Given the description of an element on the screen output the (x, y) to click on. 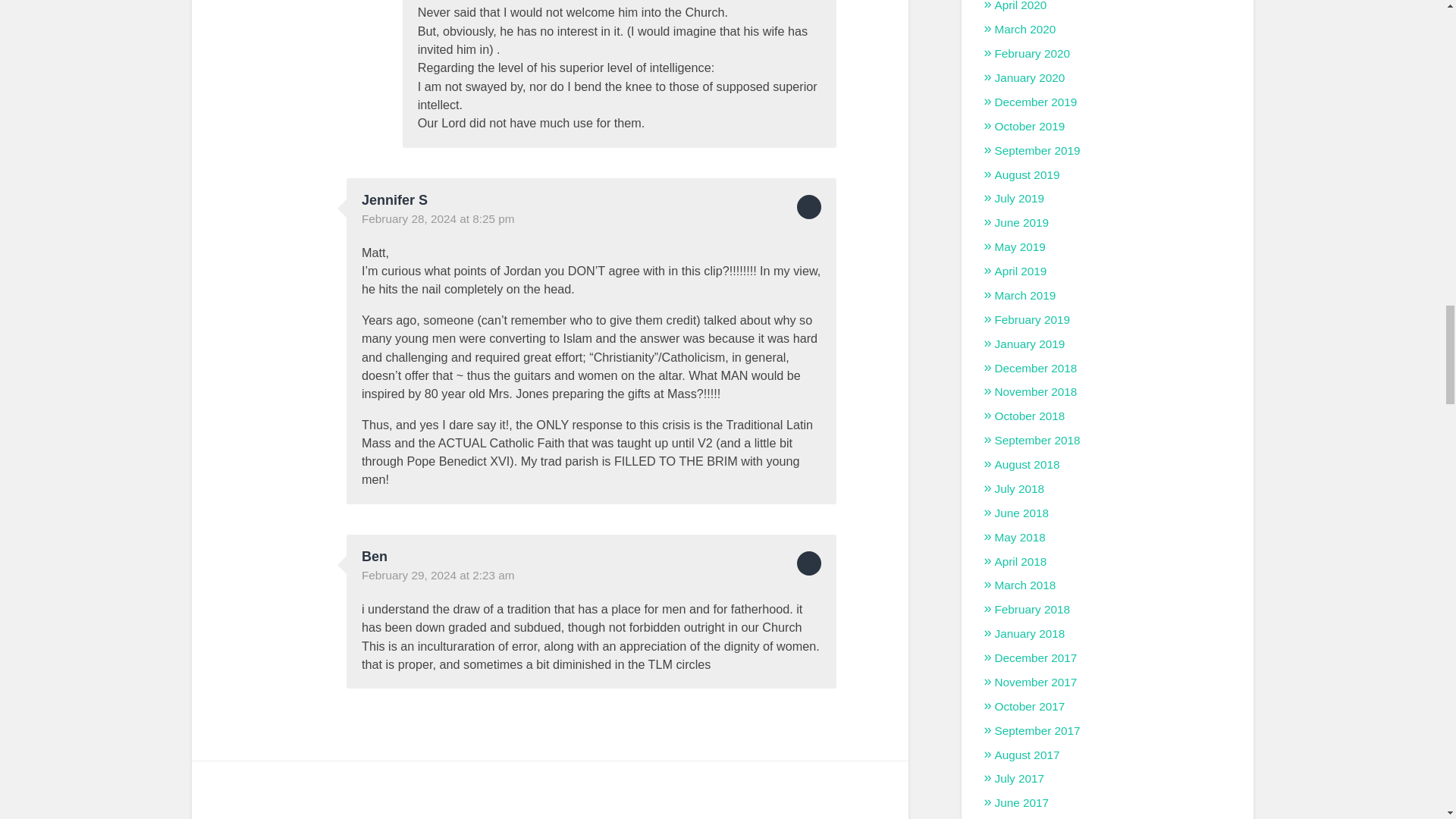
Reply (808, 563)
February 29, 2024 at 2:23 am (438, 574)
Reply (808, 206)
February 28, 2024 at 8:25 pm (438, 218)
